Given the description of an element on the screen output the (x, y) to click on. 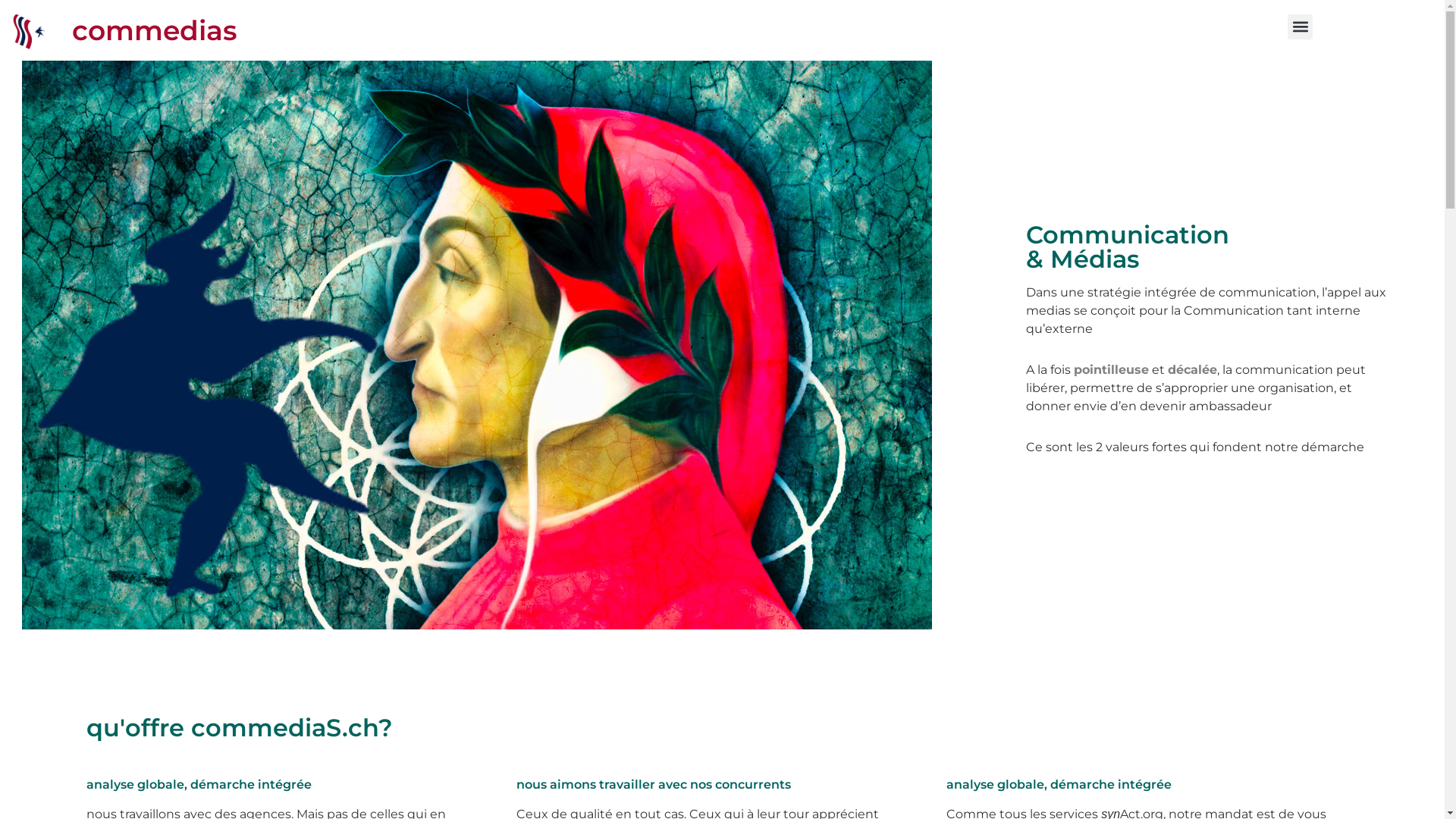
commedias Element type: text (154, 30)
